Given the description of an element on the screen output the (x, y) to click on. 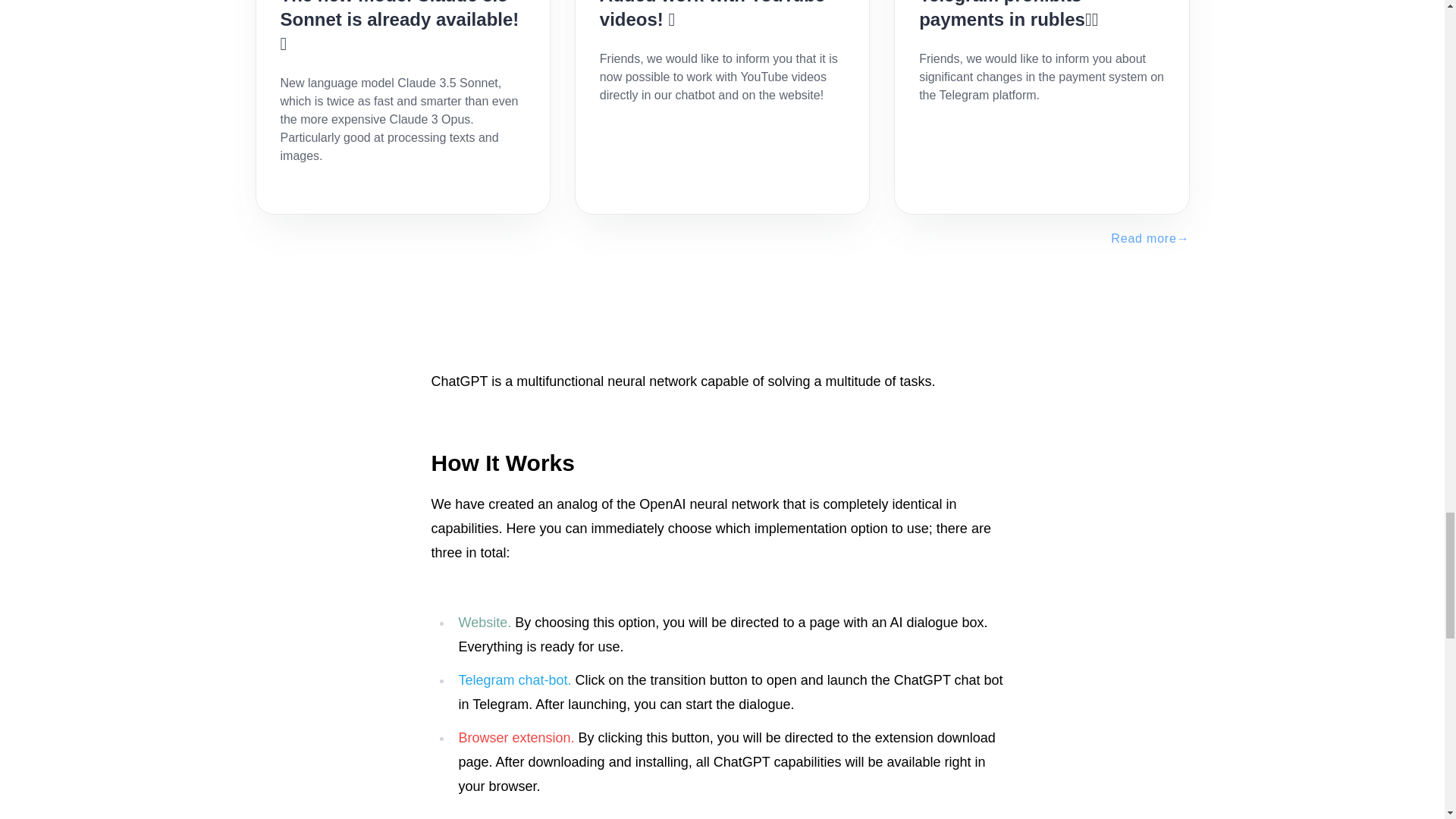
Browser extension. (515, 23)
